Given the description of an element on the screen output the (x, y) to click on. 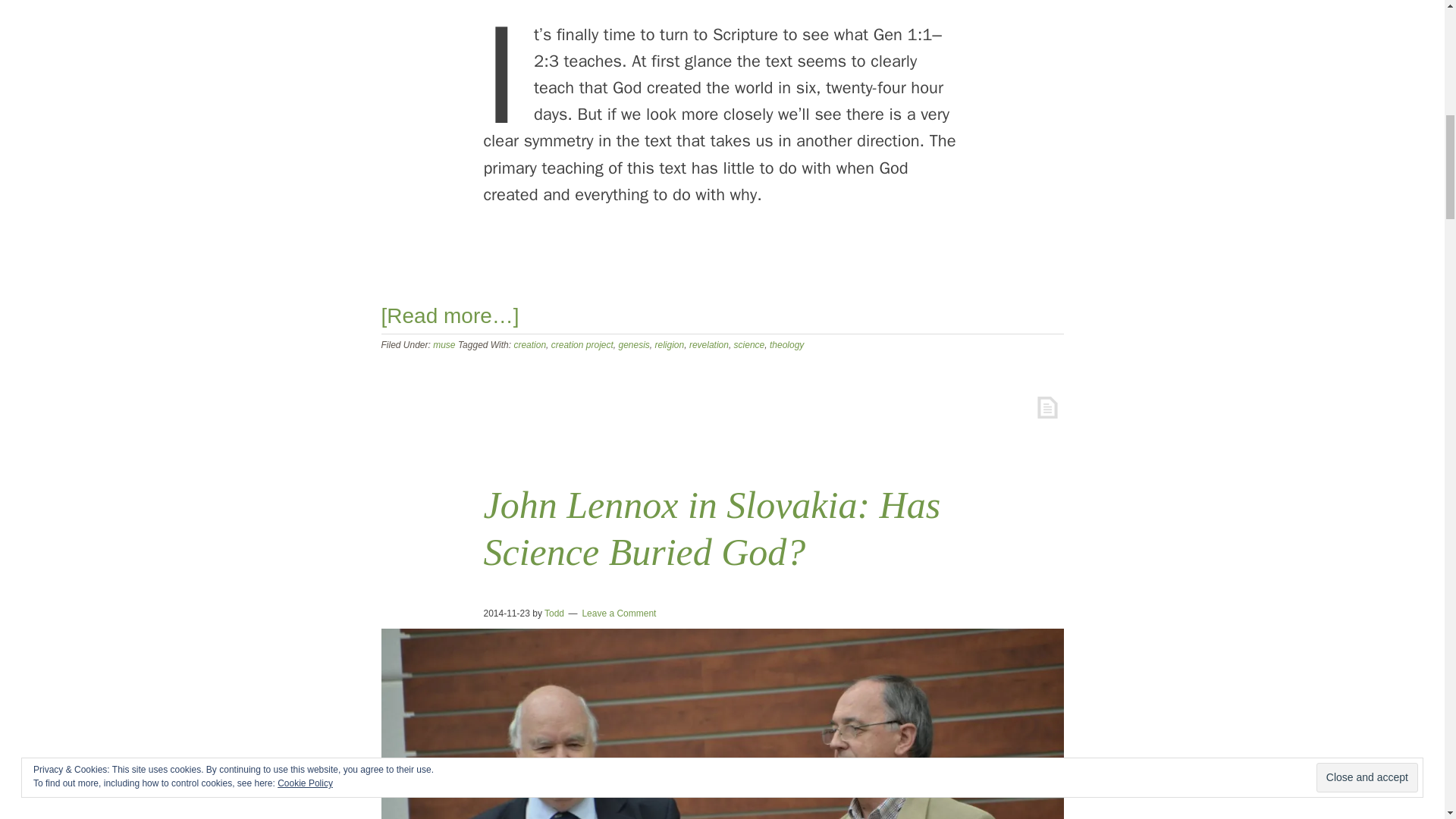
religion (669, 344)
muse (443, 344)
science (749, 344)
Leave a Comment (618, 613)
theology (786, 344)
revelation (708, 344)
genesis (633, 344)
Todd (554, 613)
creation project (581, 344)
John Lennox in Slovakia: Has Science Buried God? (711, 529)
